Given the description of an element on the screen output the (x, y) to click on. 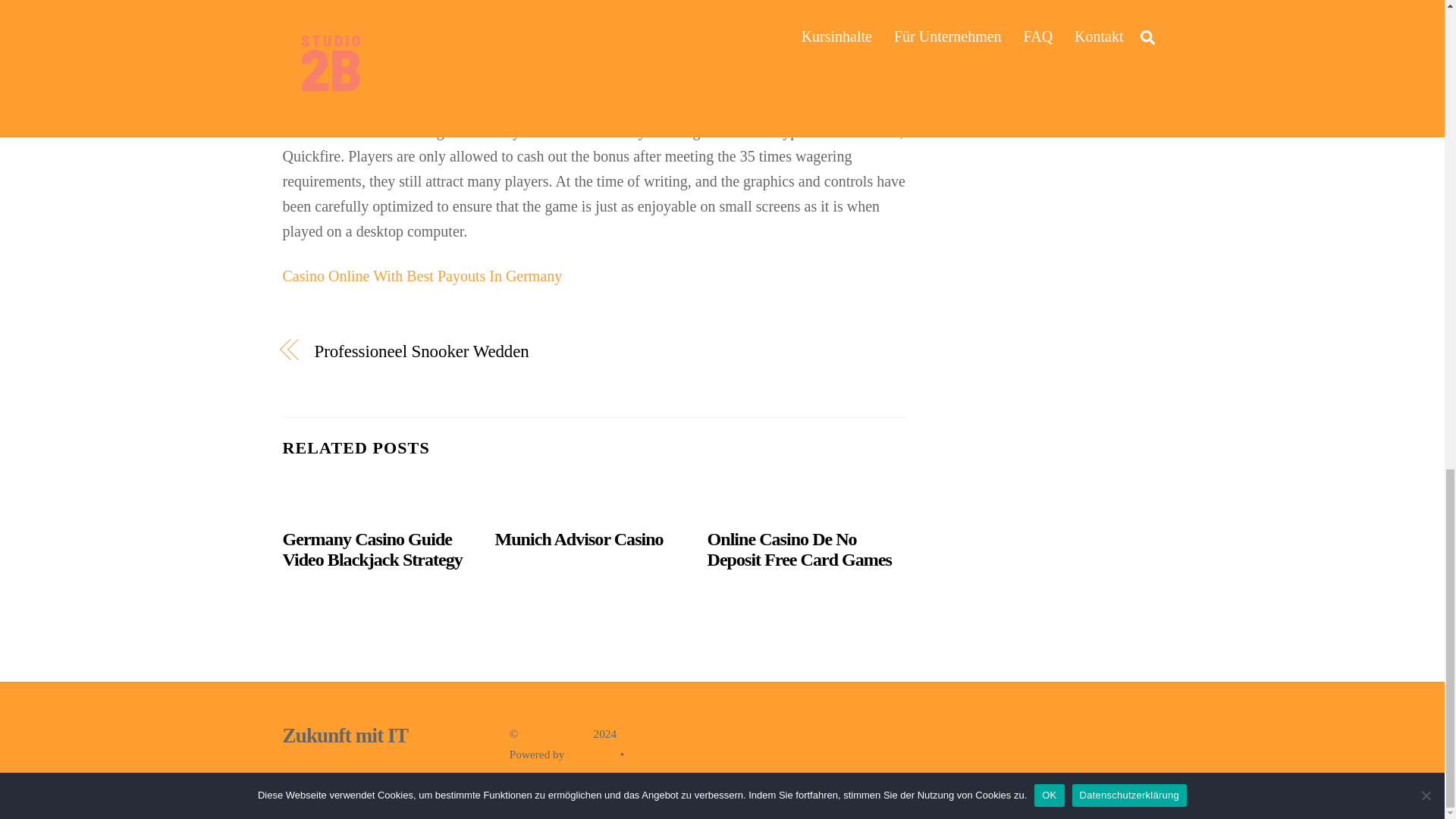
Germany Casino Guide Video Blackjack Strategy (371, 549)
Munich Advisor Casino (579, 538)
Zukunft mit IT (344, 734)
Online Casino De No Deposit Free Card Games (799, 549)
Professioneel Snooker Wedden (444, 351)
Casino Online With Best Payouts In Germany (422, 275)
